Given the description of an element on the screen output the (x, y) to click on. 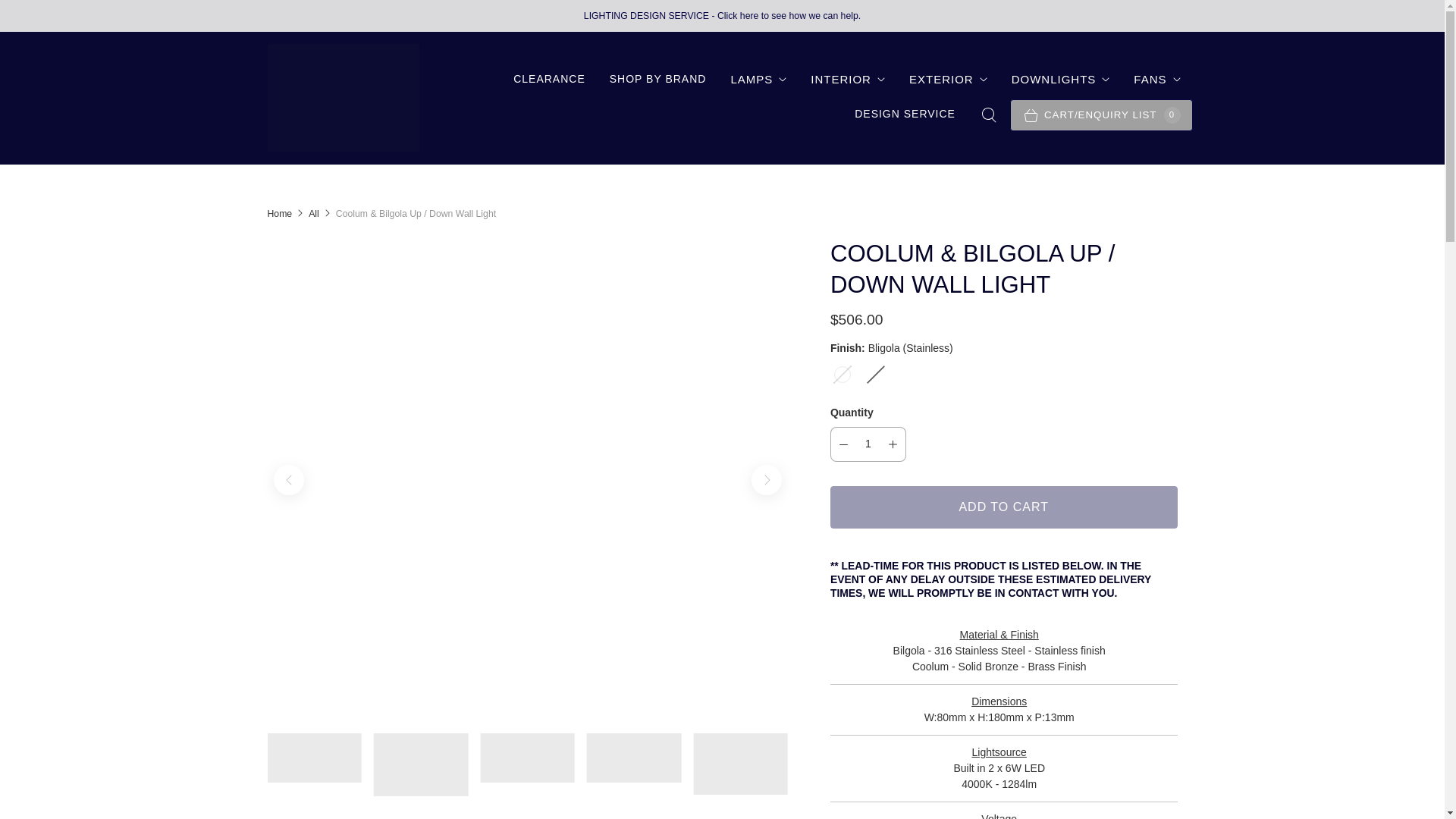
CLEARANCE (548, 79)
SHOP BY BRAND (657, 79)
